Given the description of an element on the screen output the (x, y) to click on. 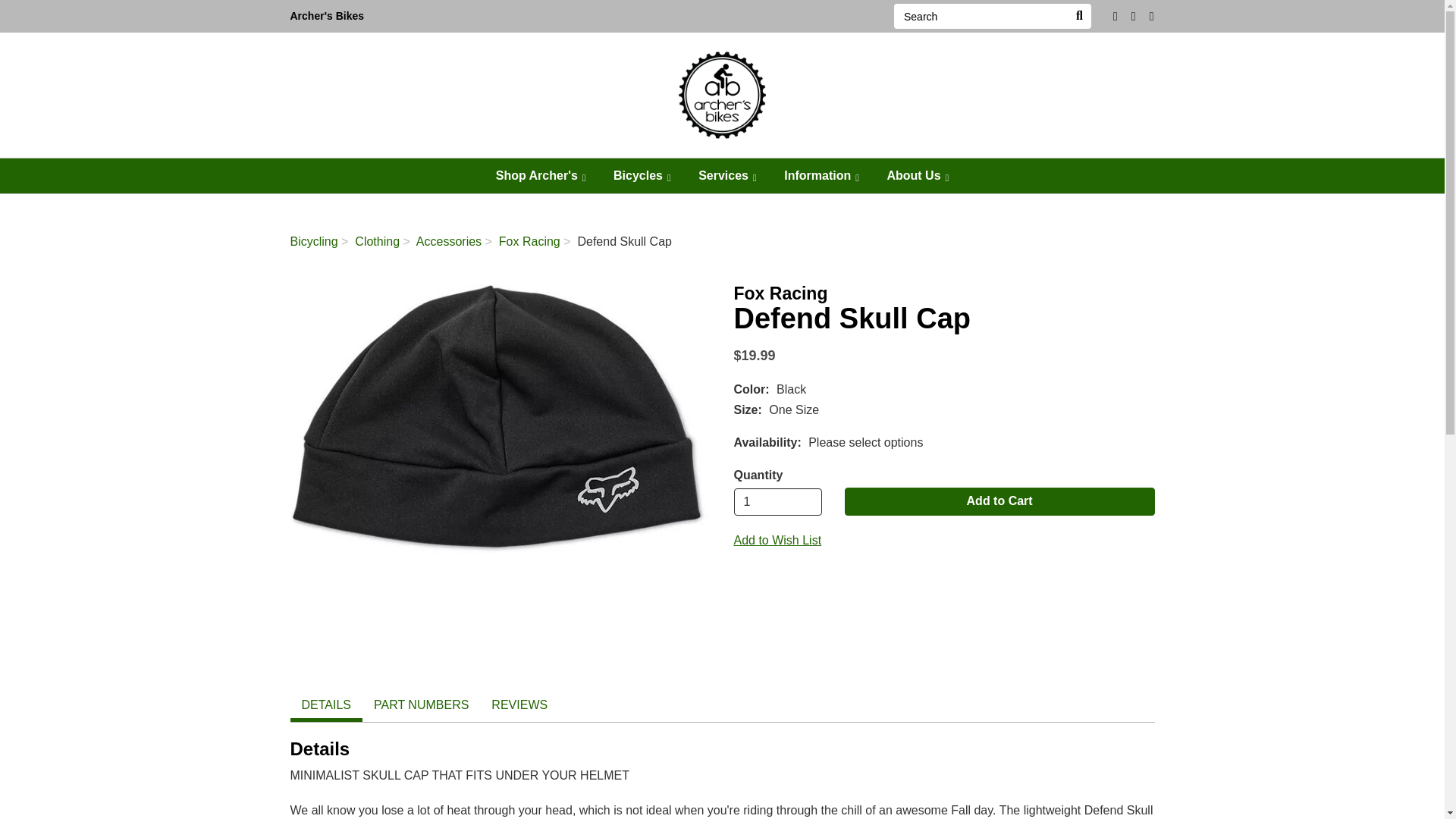
1 (777, 501)
Archer's Bikes Home Page (722, 93)
Archer's Bikes Home Page (326, 16)
Search (1078, 16)
Archer's Bikes (326, 16)
Search (980, 16)
Shop Archer's (540, 175)
Fox Racing Defend Skull Cap (499, 419)
